Given the description of an element on the screen output the (x, y) to click on. 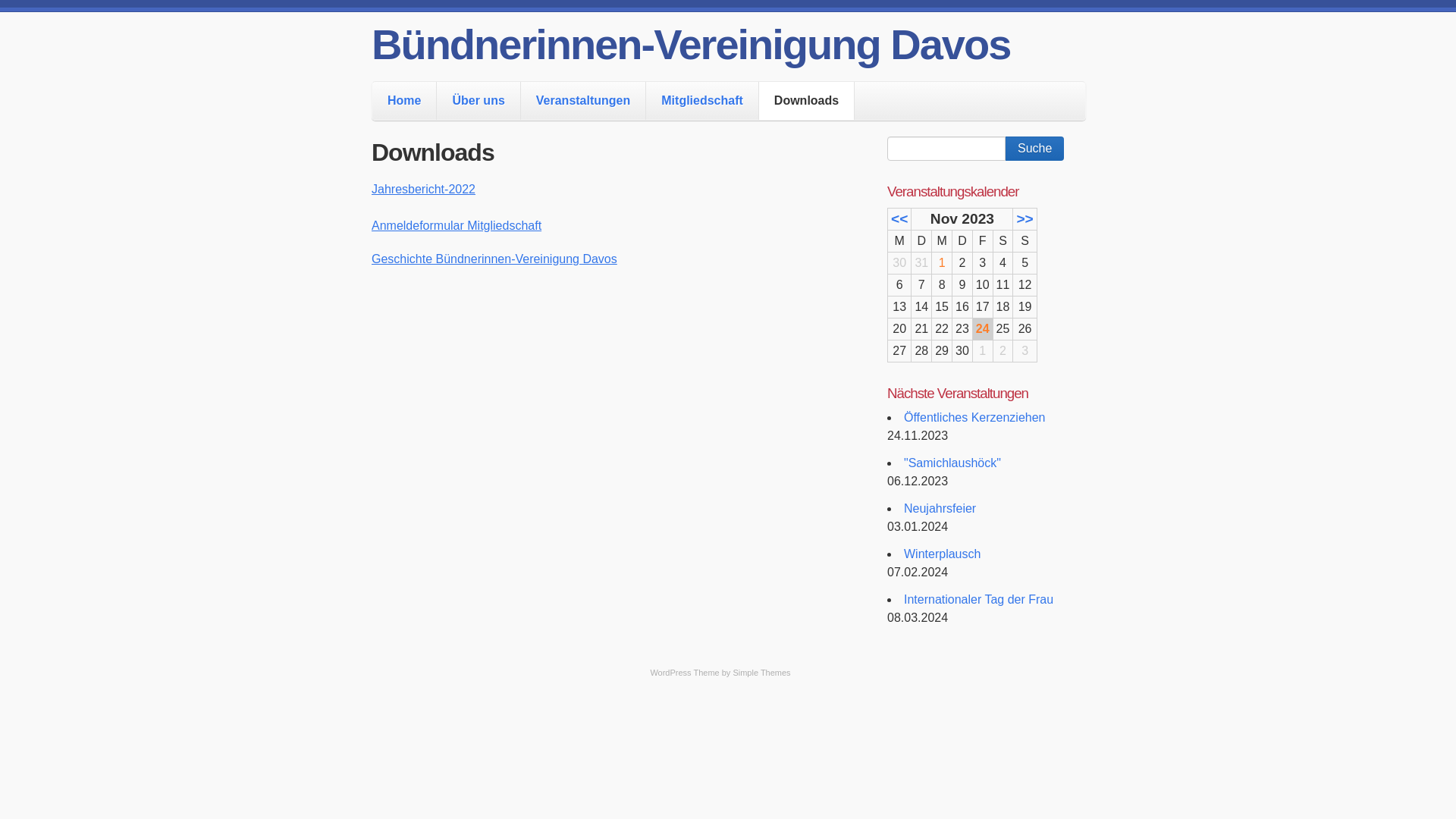
1 Element type: text (941, 262)
>> Element type: text (1024, 218)
Veranstaltungen Element type: text (582, 100)
Suche Element type: text (1034, 148)
Home Element type: text (404, 100)
Winterplausch Element type: text (941, 553)
Downloads Element type: text (806, 100)
Mitgliedschaft Element type: text (702, 100)
Simple Themes Element type: text (761, 672)
Anmeldeformular Mitgliedschaft Element type: text (456, 225)
<< Element type: text (899, 218)
Neujahrsfeier Element type: text (939, 508)
24 Element type: text (982, 328)
Internationaler Tag der Frau Element type: text (978, 599)
Jahresbericht-2022 Element type: text (423, 188)
